Given the description of an element on the screen output the (x, y) to click on. 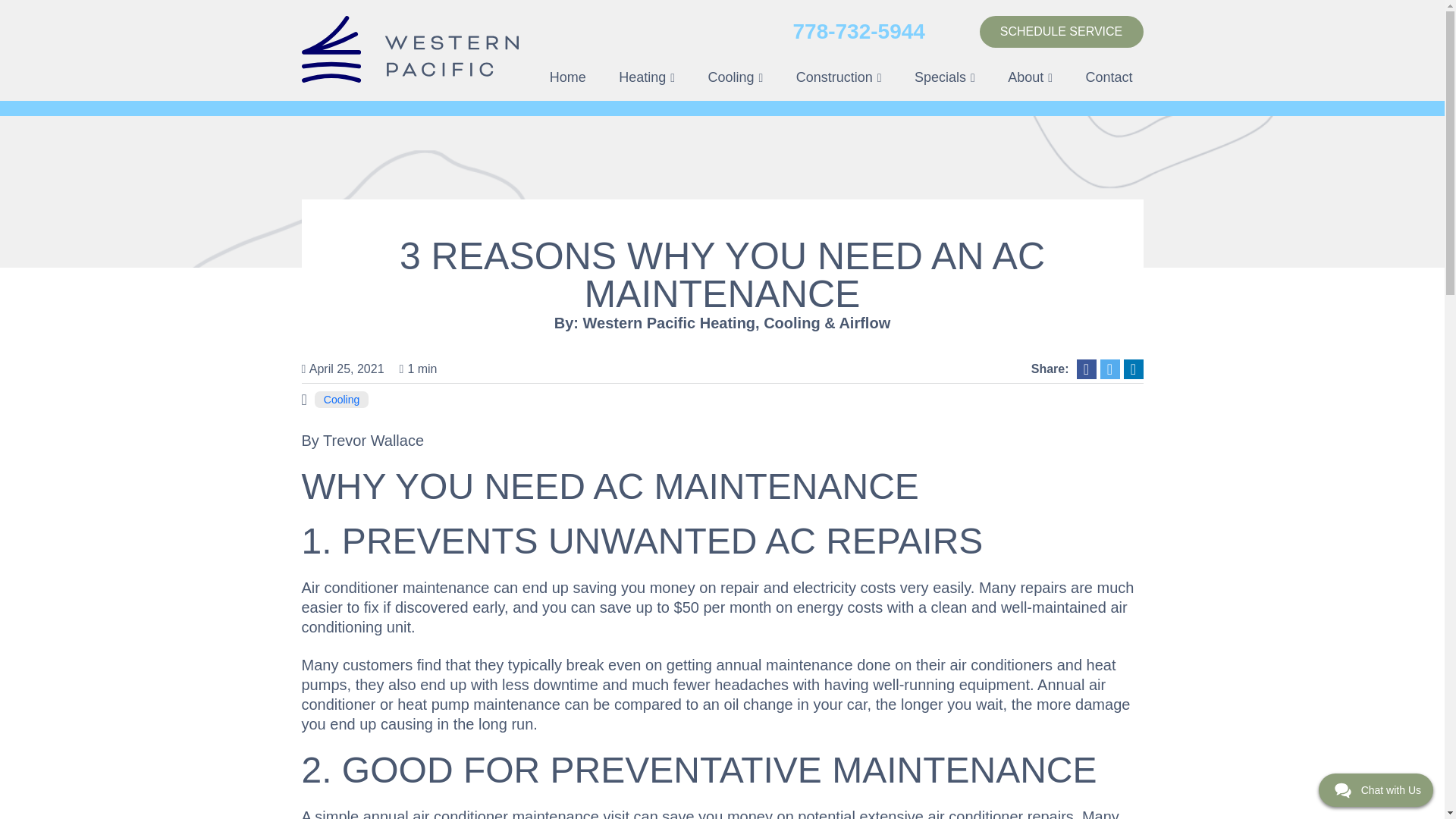
Specials (944, 77)
Heating (646, 77)
About (1029, 77)
SCHEDULE SERVICE (1060, 31)
Contact (1108, 77)
778-732-5944 (858, 31)
Construction (839, 77)
Cooling (735, 77)
Home (567, 77)
